Given the description of an element on the screen output the (x, y) to click on. 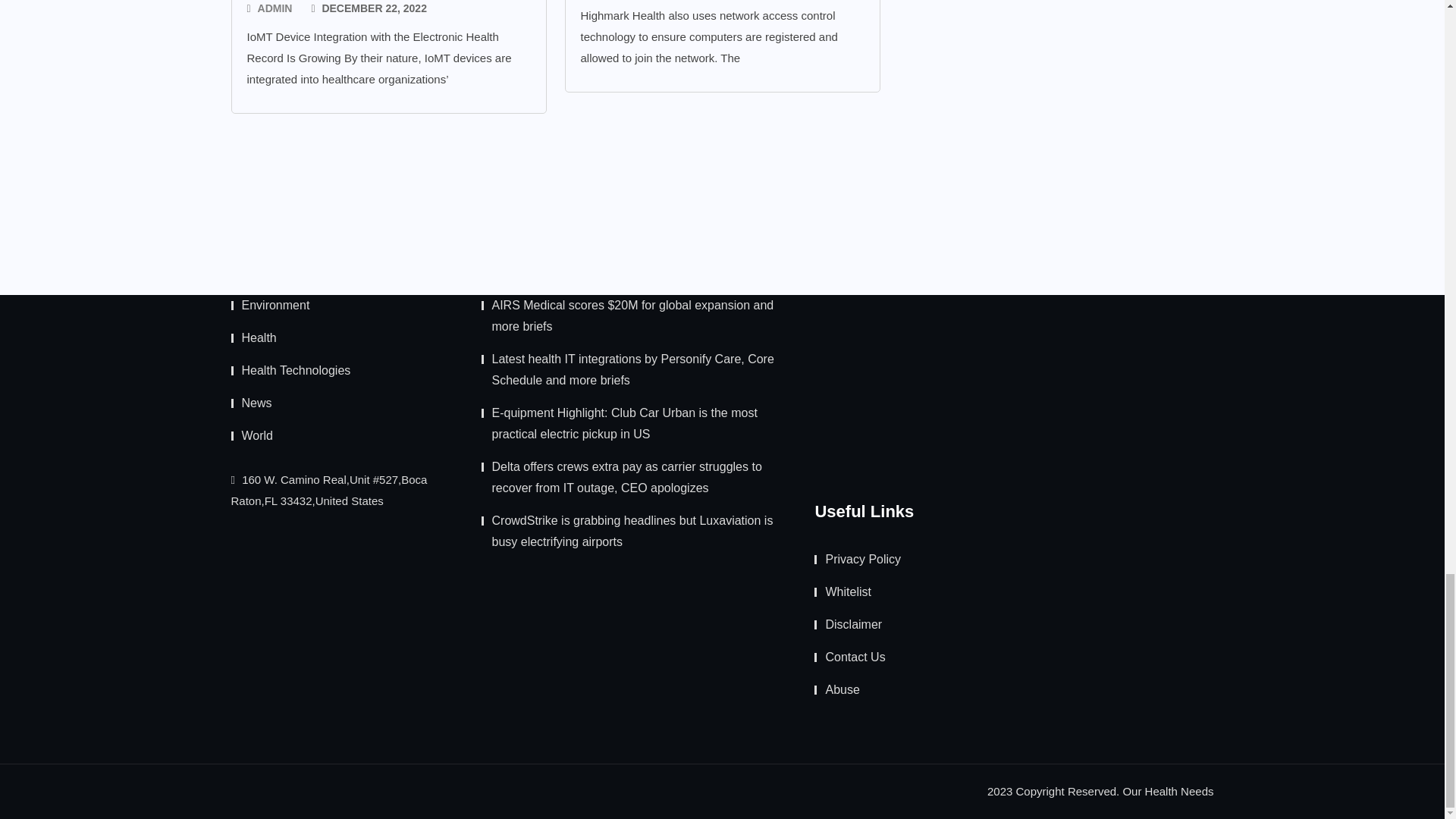
Posts by admin (274, 9)
